Given the description of an element on the screen output the (x, y) to click on. 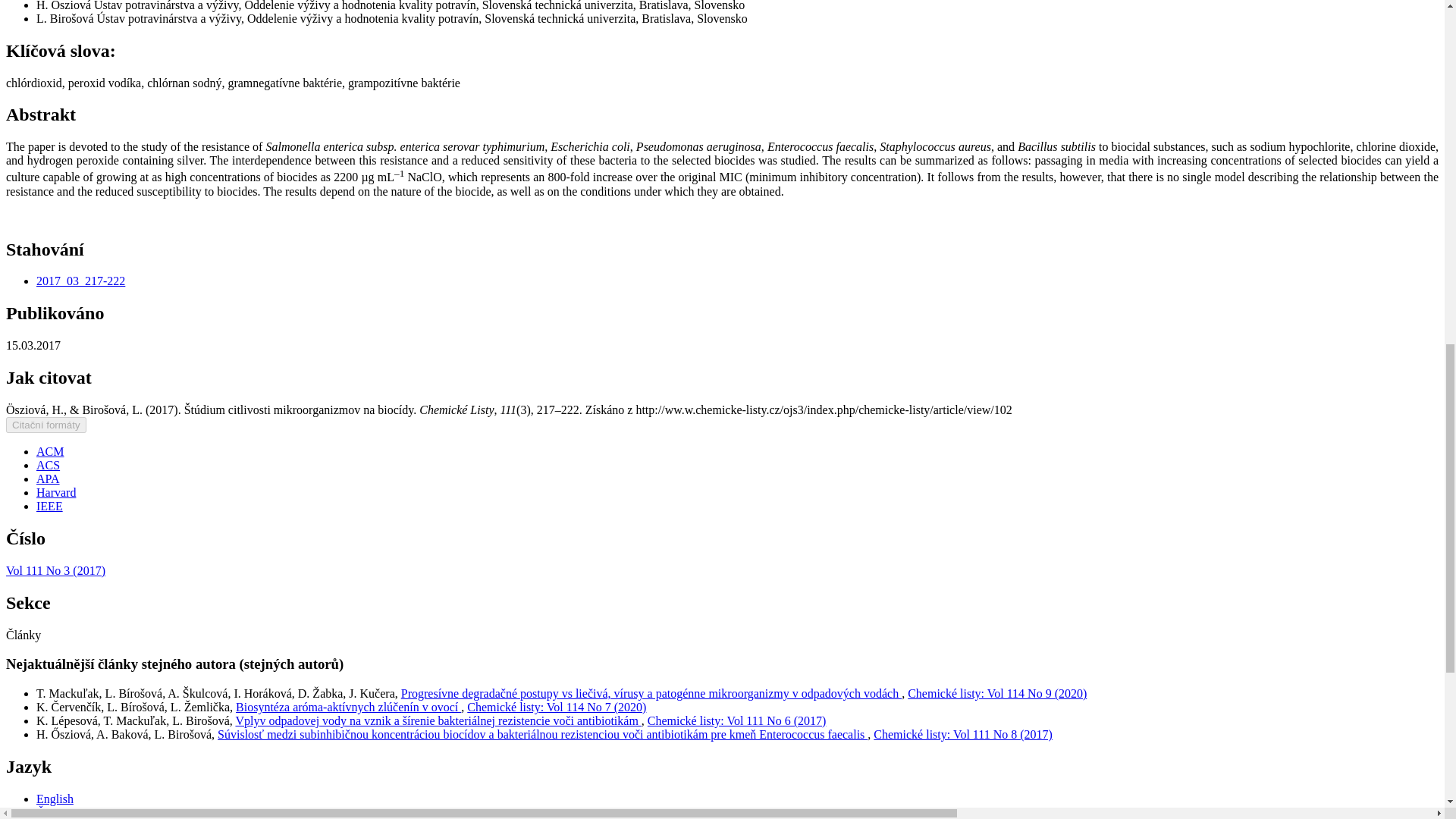
ACM (50, 451)
Harvard (55, 492)
APA (47, 478)
IEEE (49, 505)
ACS (47, 464)
